Given the description of an element on the screen output the (x, y) to click on. 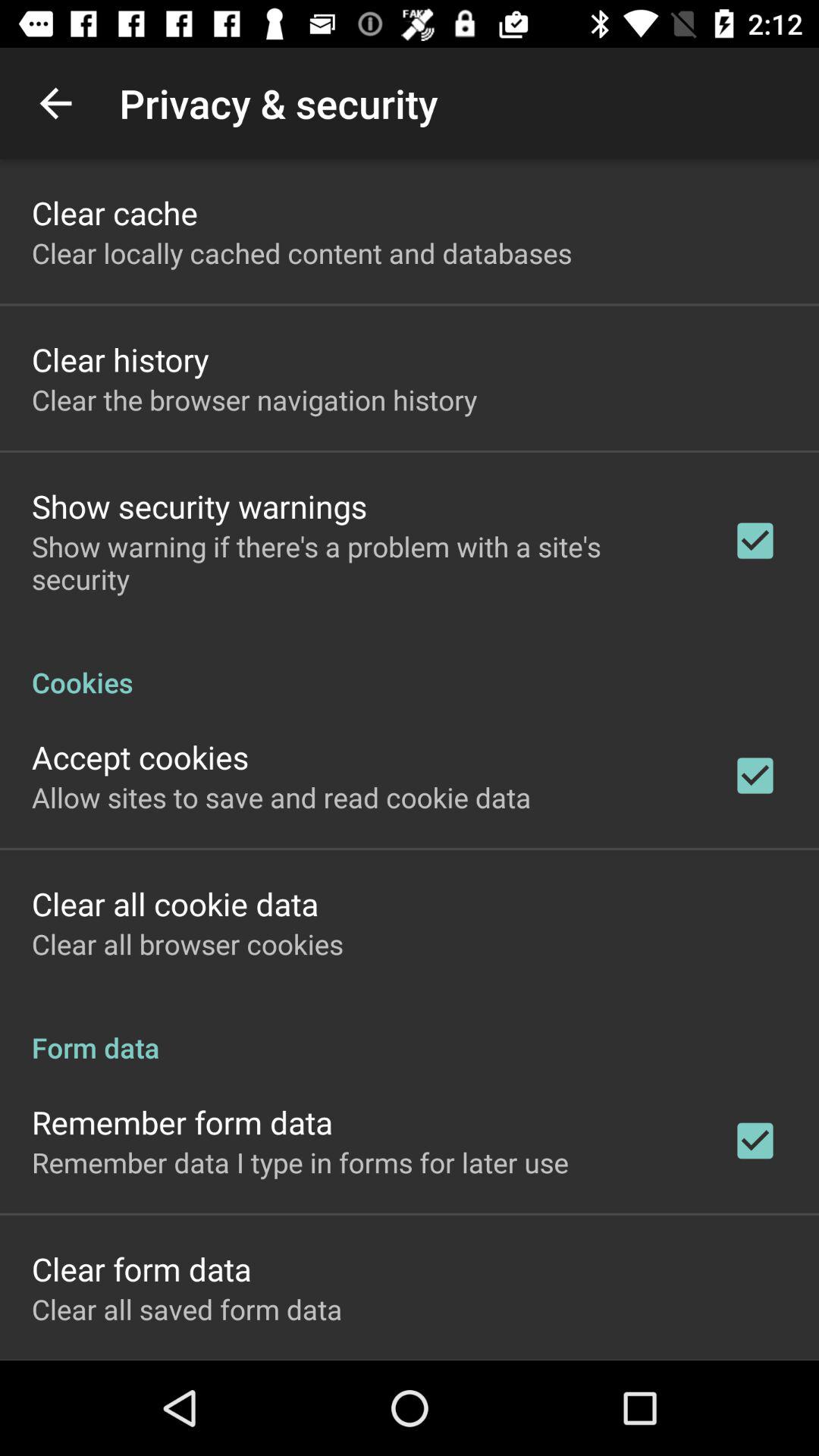
choose the icon above the clear cache app (55, 103)
